Given the description of an element on the screen output the (x, y) to click on. 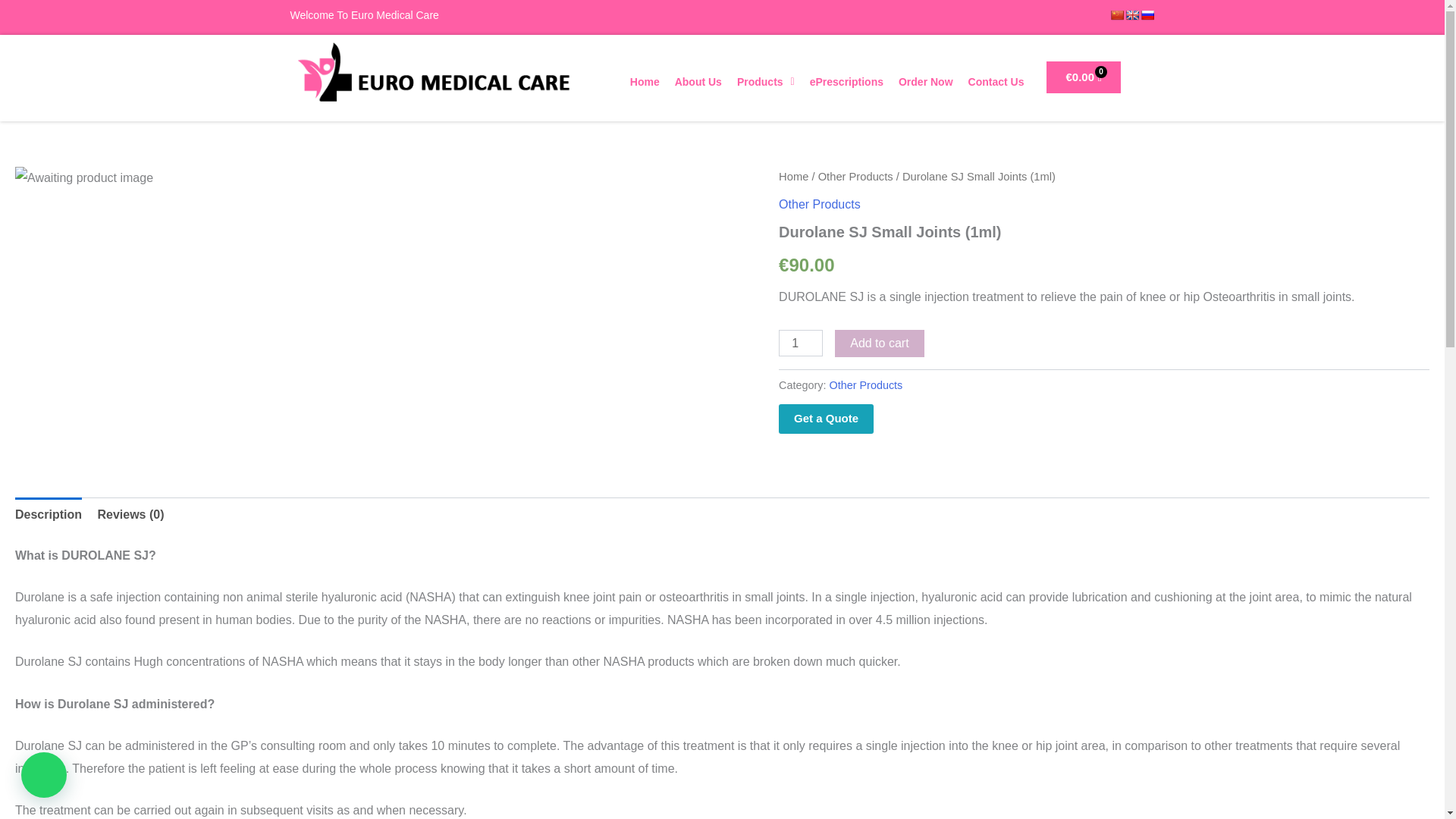
Products (765, 81)
English (1131, 15)
1 (800, 343)
Russian (1147, 15)
Home (644, 81)
Order Now (925, 81)
ePrescriptions (846, 81)
About Us (697, 81)
